Given the description of an element on the screen output the (x, y) to click on. 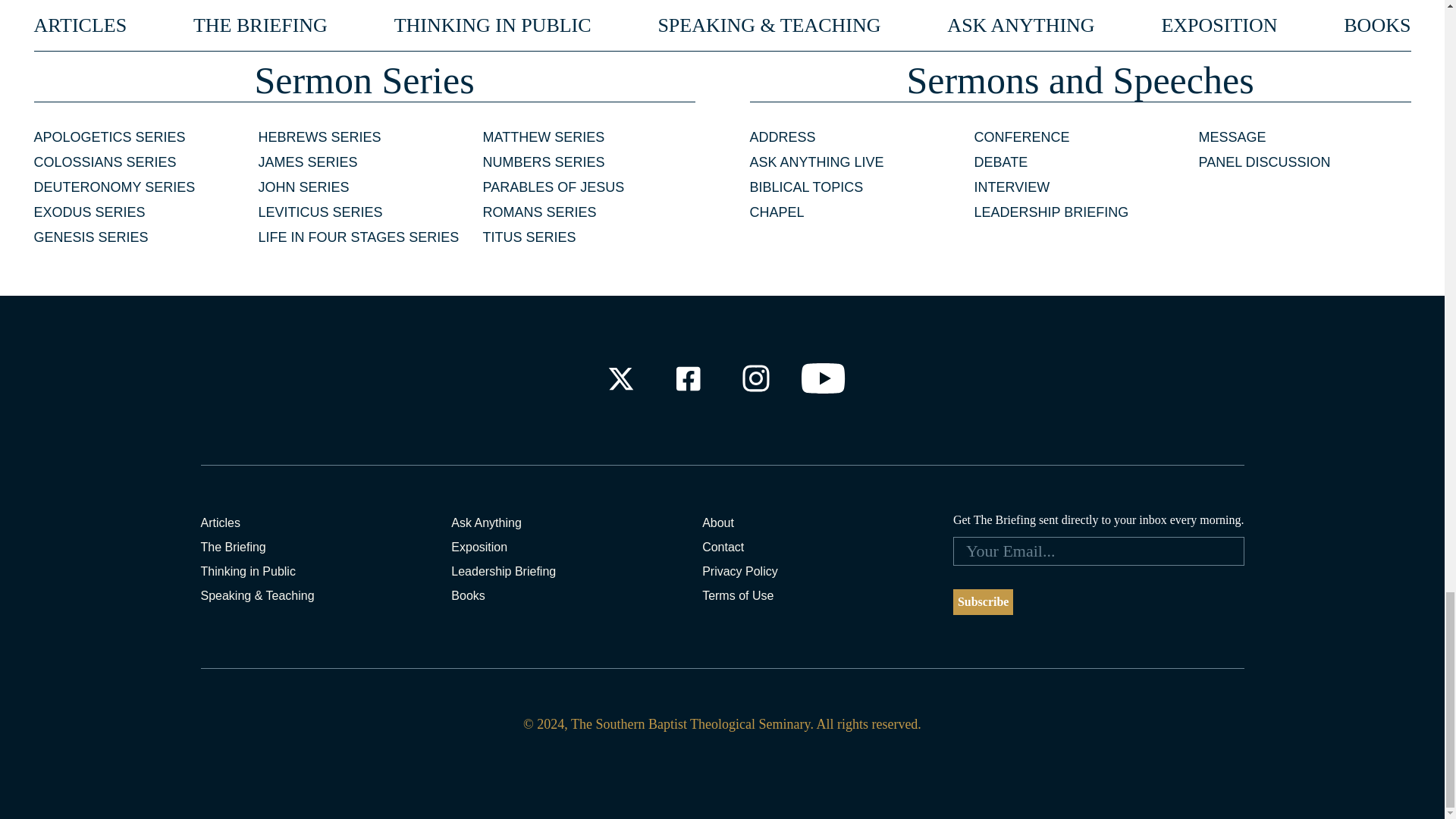
Check out our Instagram Profile (755, 378)
Subscribe (983, 601)
Check out our X Profile (620, 378)
Check out our Facebook Profile (687, 378)
Check out our Youtube Channel (822, 378)
